Given the description of an element on the screen output the (x, y) to click on. 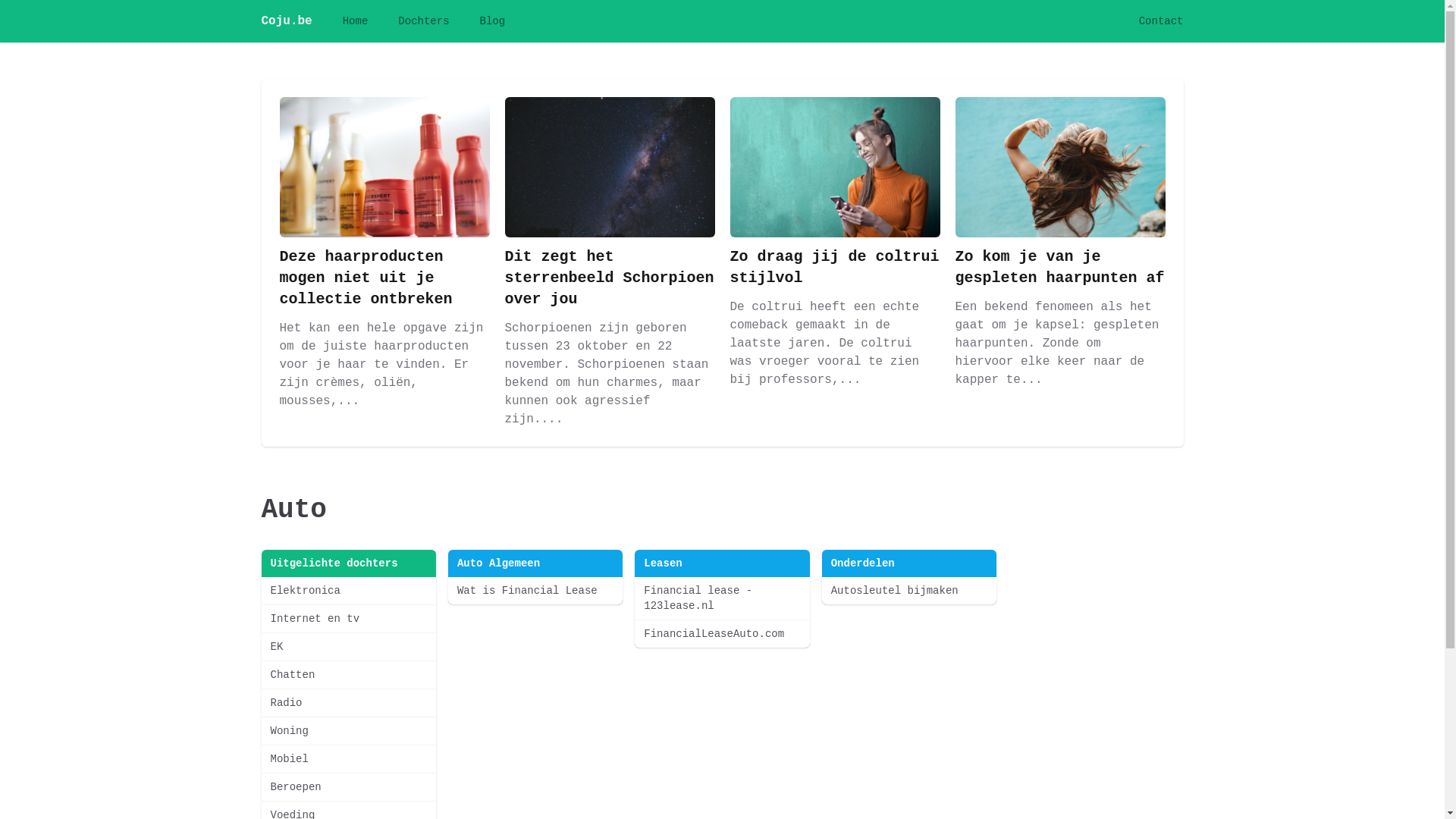
Chatten Element type: text (347, 674)
Wat is Financial Lease Element type: text (535, 590)
FinancialLeaseAuto.com Element type: text (721, 633)
Autosleutel bijmaken Element type: text (909, 590)
Coju.be Element type: text (285, 21)
Home Element type: text (355, 20)
EK Element type: text (347, 646)
Financial lease - 123lease.nl Element type: text (721, 598)
Blog Element type: text (492, 20)
Radio Element type: text (347, 702)
Beroepen Element type: text (347, 786)
Elektronica Element type: text (347, 590)
Contact Element type: text (1161, 20)
Woning Element type: text (347, 730)
Mobiel Element type: text (347, 758)
Dochters Element type: text (423, 20)
Internet en tv Element type: text (347, 618)
